Given the description of an element on the screen output the (x, y) to click on. 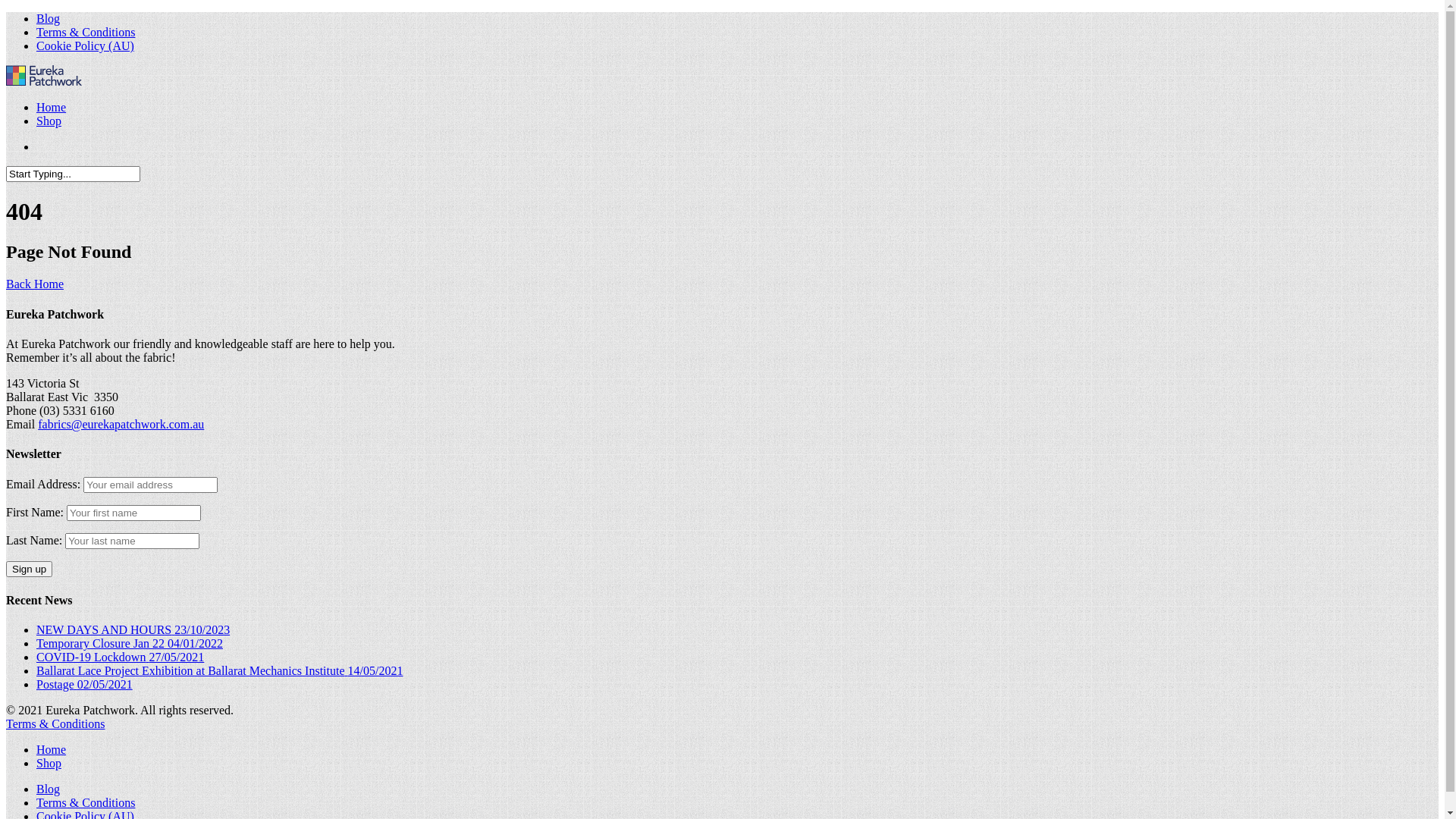
Terms & Conditions Element type: text (55, 723)
Home Element type: text (50, 749)
Cookie Policy (AU) Element type: text (85, 45)
Sign up Element type: text (29, 569)
Temporary Closure Jan 22 04/01/2022 Element type: text (129, 643)
Shop Element type: text (48, 119)
Postage 02/05/2021 Element type: text (84, 683)
Home Element type: text (50, 106)
Terms & Conditions Element type: text (85, 31)
Back Home Element type: text (34, 283)
Blog Element type: text (47, 788)
NEW DAYS AND HOURS 23/10/2023 Element type: text (132, 629)
Blog Element type: text (47, 18)
Shop Element type: text (48, 762)
Terms & Conditions Element type: text (85, 802)
fabrics@eurekapatchwork.com.au Element type: text (120, 423)
COVID-19 Lockdown 27/05/2021 Element type: text (119, 656)
